Given the description of an element on the screen output the (x, y) to click on. 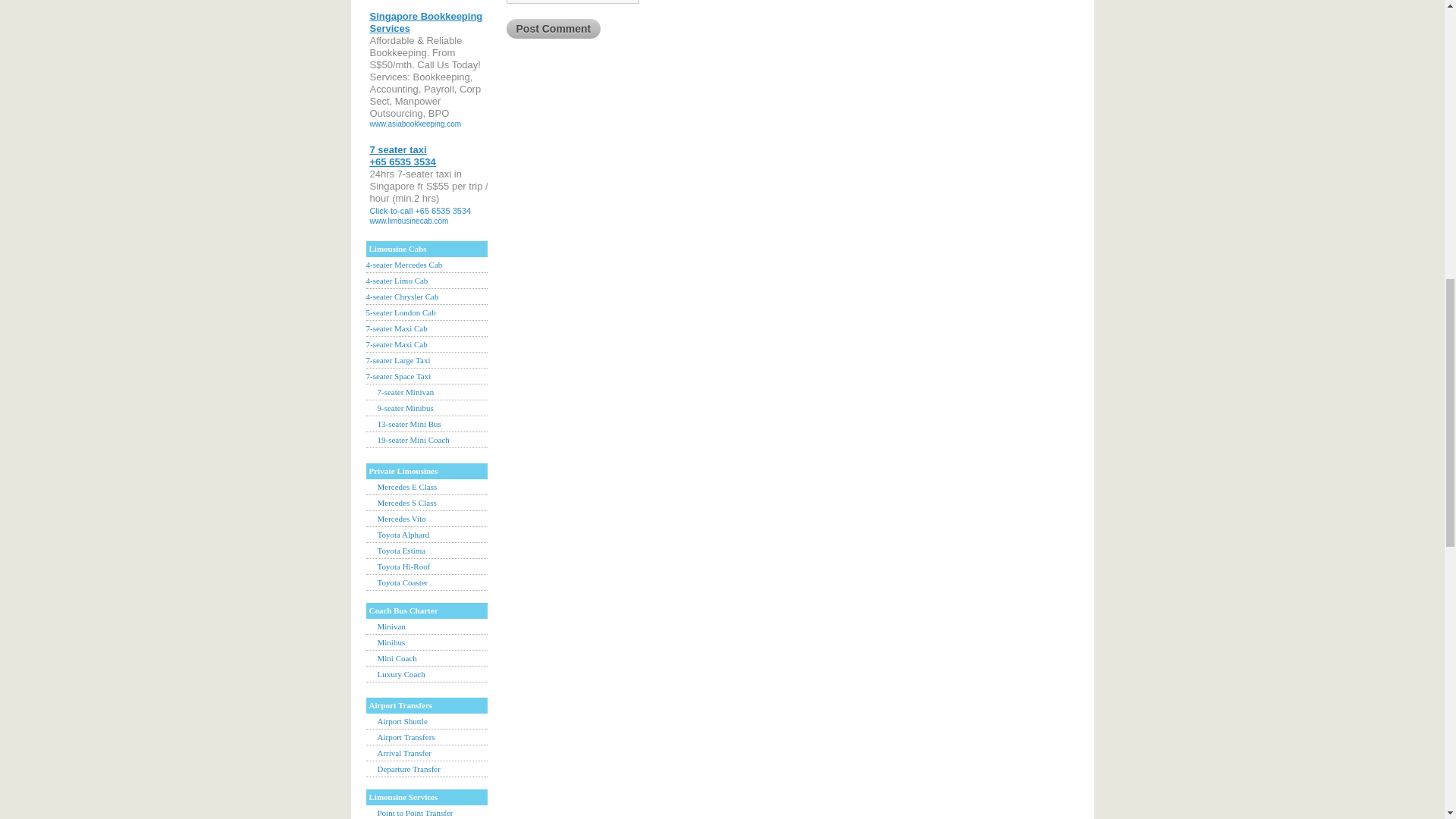
7 seater taxi (402, 155)
Singapore Bookkeeping Service (426, 22)
www.asiabookkeeping.com (415, 123)
Post Comment (553, 28)
www.limousinecab.com (408, 221)
